Given the description of an element on the screen output the (x, y) to click on. 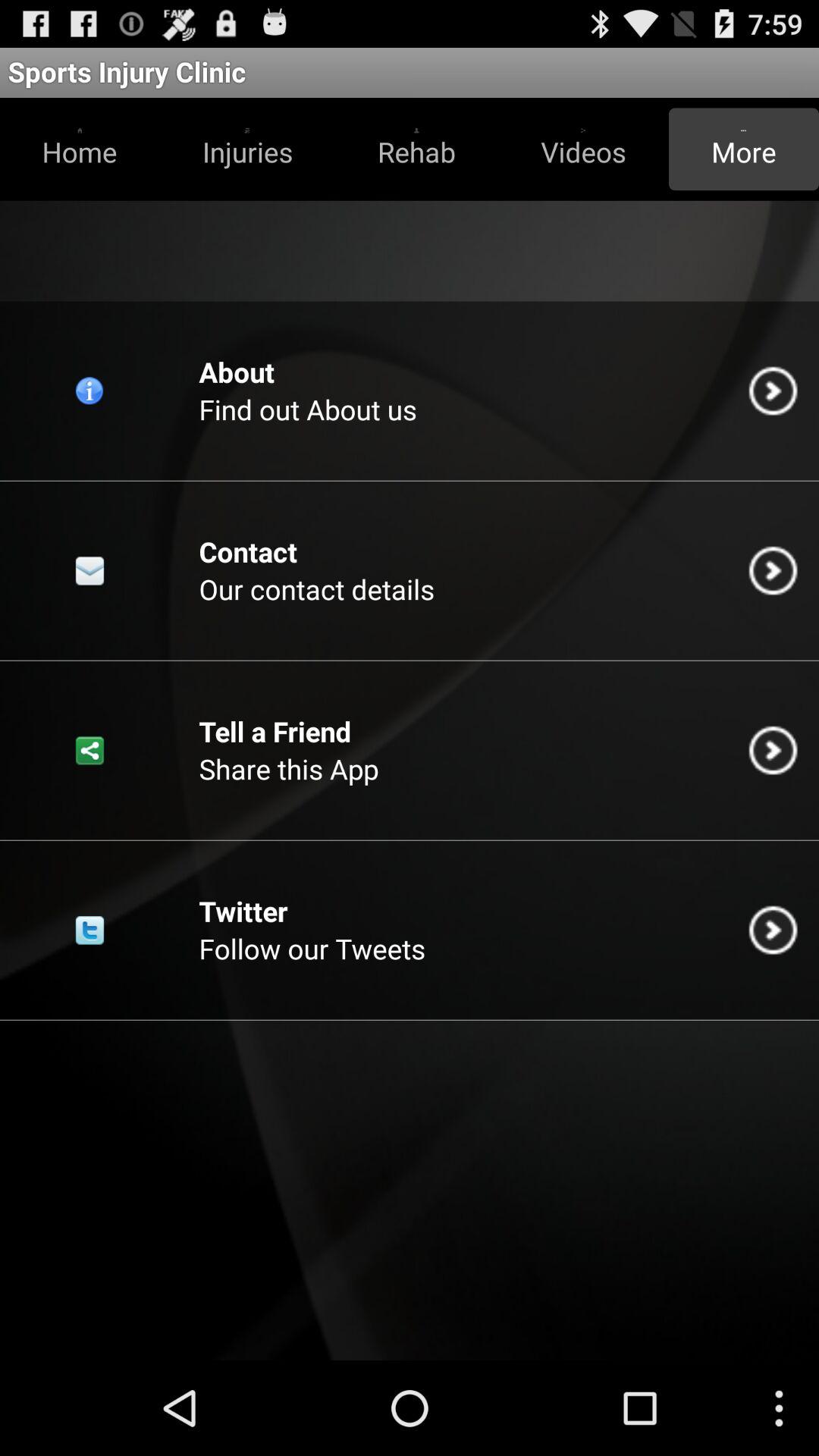
tap tell a friend app (275, 731)
